Given the description of an element on the screen output the (x, y) to click on. 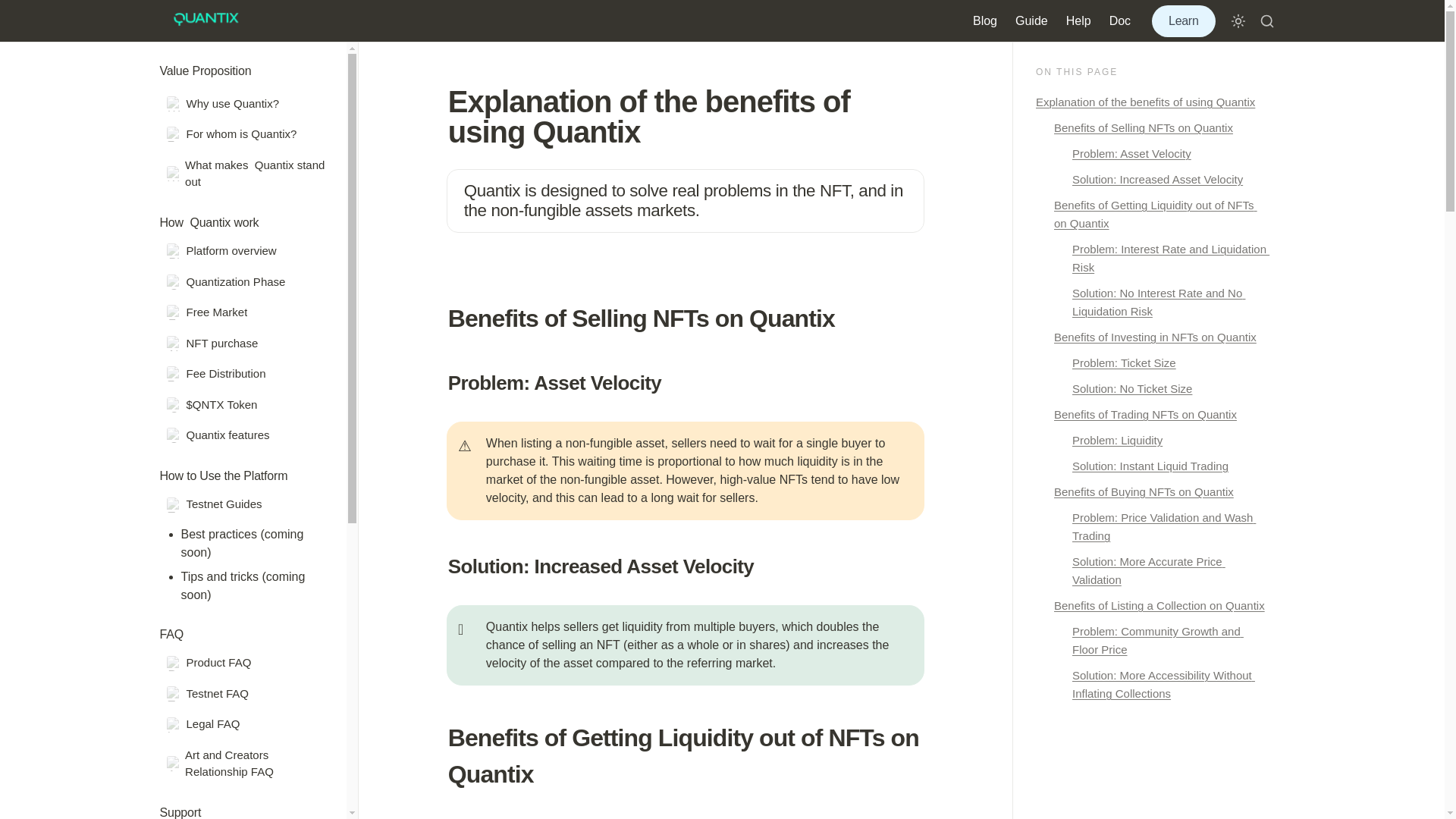
Product FAQ (246, 663)
Testnet Guides (246, 504)
Benefits of Getting Liquidity out of NFTs on Quantix (1151, 214)
Explanation of the benefits of using Quantix (1151, 102)
Help (1078, 20)
Benefits of Trading NFTs on Quantix (1151, 414)
Platform overview (246, 251)
Benefits of Investing in NFTs on Quantix (1151, 337)
Solution: Increased Asset Velocity (1151, 179)
What makes  Quantix stand out (246, 173)
